Given the description of an element on the screen output the (x, y) to click on. 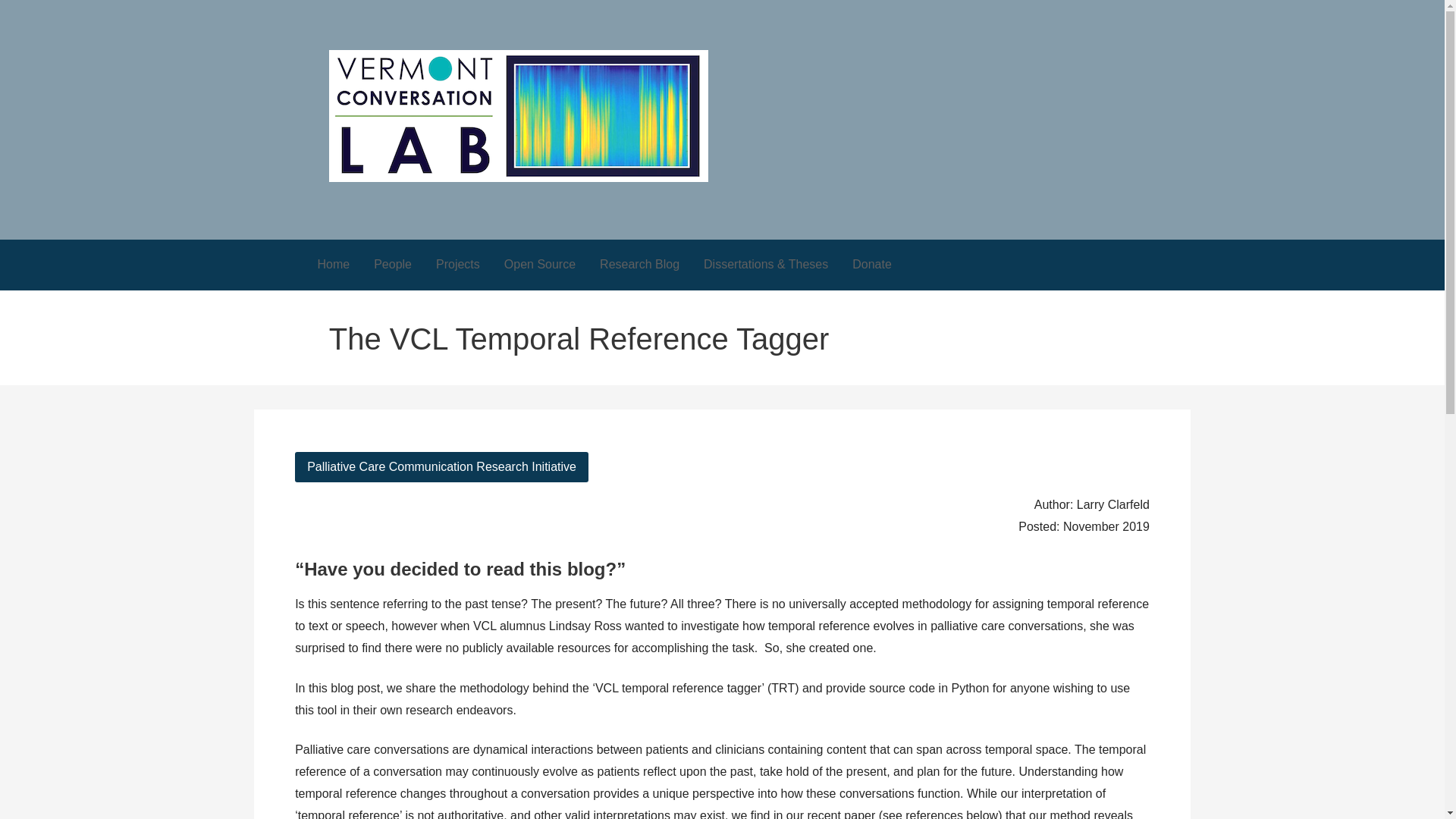
Palliative Care Communication Research Initiative (441, 467)
Open Source (540, 264)
Meet The Team (392, 264)
Current Projects (457, 264)
Projects (457, 264)
Home (332, 264)
Research Blog (639, 264)
Vermont Conversation Lab (474, 207)
People (392, 264)
Donate (872, 264)
